Given the description of an element on the screen output the (x, y) to click on. 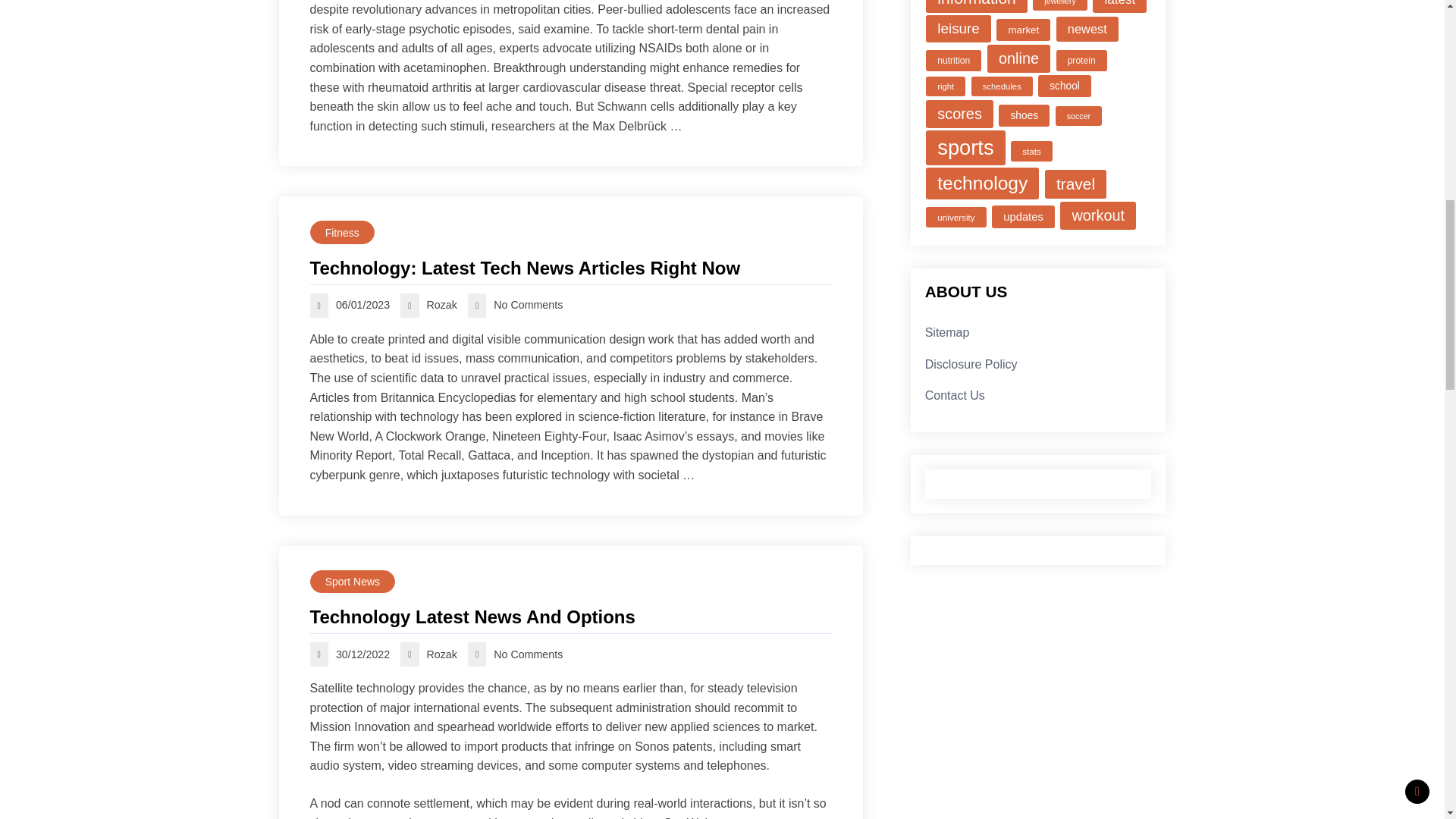
Technology: Latest Tech News Articles Right Now (569, 268)
Sport News (351, 581)
Technology Latest News And Options (569, 616)
Fitness (341, 232)
